Given the description of an element on the screen output the (x, y) to click on. 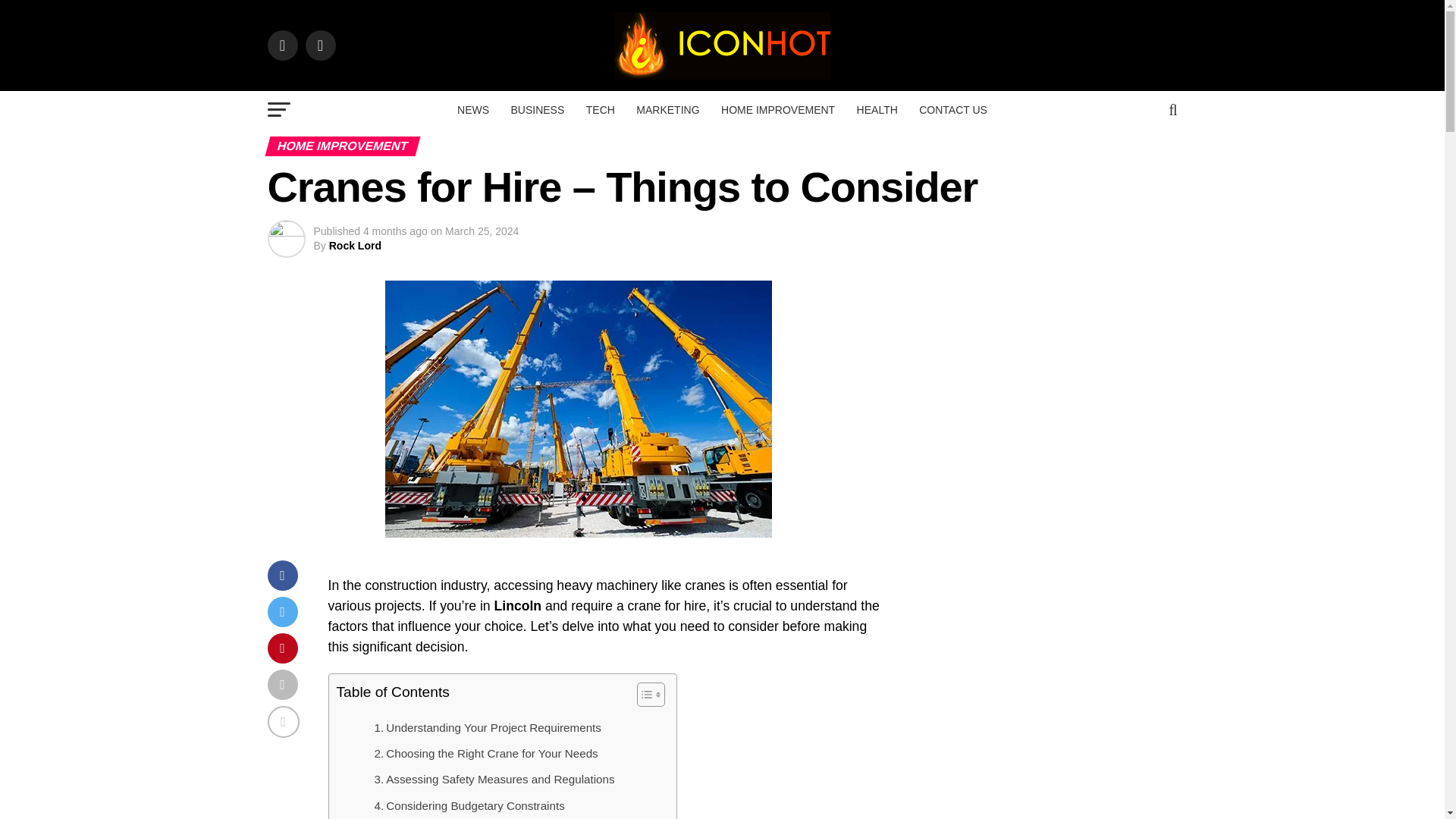
Considering Budgetary Constraints (469, 805)
TECH (600, 109)
Rock Lord (355, 245)
Assessing Safety Measures and Regulations (494, 779)
Considering Budgetary Constraints (469, 805)
NEWS (472, 109)
Posts by Rock Lord (355, 245)
Understanding Your Project Requirements (487, 728)
HEALTH (877, 109)
Assessing Safety Measures and Regulations (494, 779)
Choosing the Right Crane for Your Needs (486, 753)
CONTACT US (952, 109)
Understanding Your Project Requirements (487, 728)
Choosing the Right Crane for Your Needs (486, 753)
BUSINESS (536, 109)
